Given the description of an element on the screen output the (x, y) to click on. 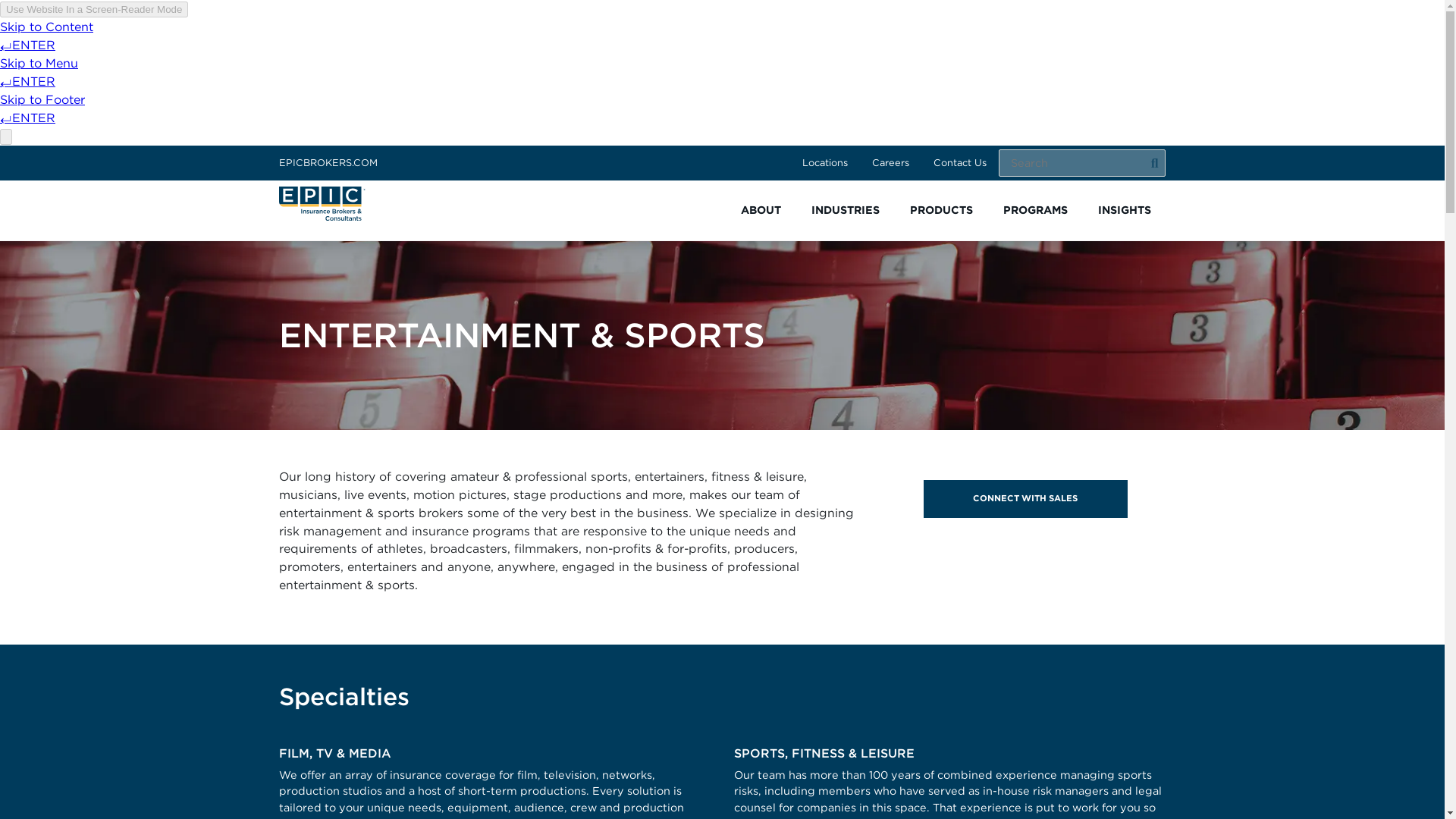
Careers (890, 162)
EPICBROKERS.COM (328, 162)
Locations (825, 162)
INDUSTRIES (845, 210)
Contact Us (959, 162)
Industries (845, 210)
Programs (1034, 210)
ABOUT (759, 210)
Products (941, 210)
Careers (890, 162)
Locations (825, 162)
About (759, 210)
Contact Us (959, 162)
